Given the description of an element on the screen output the (x, y) to click on. 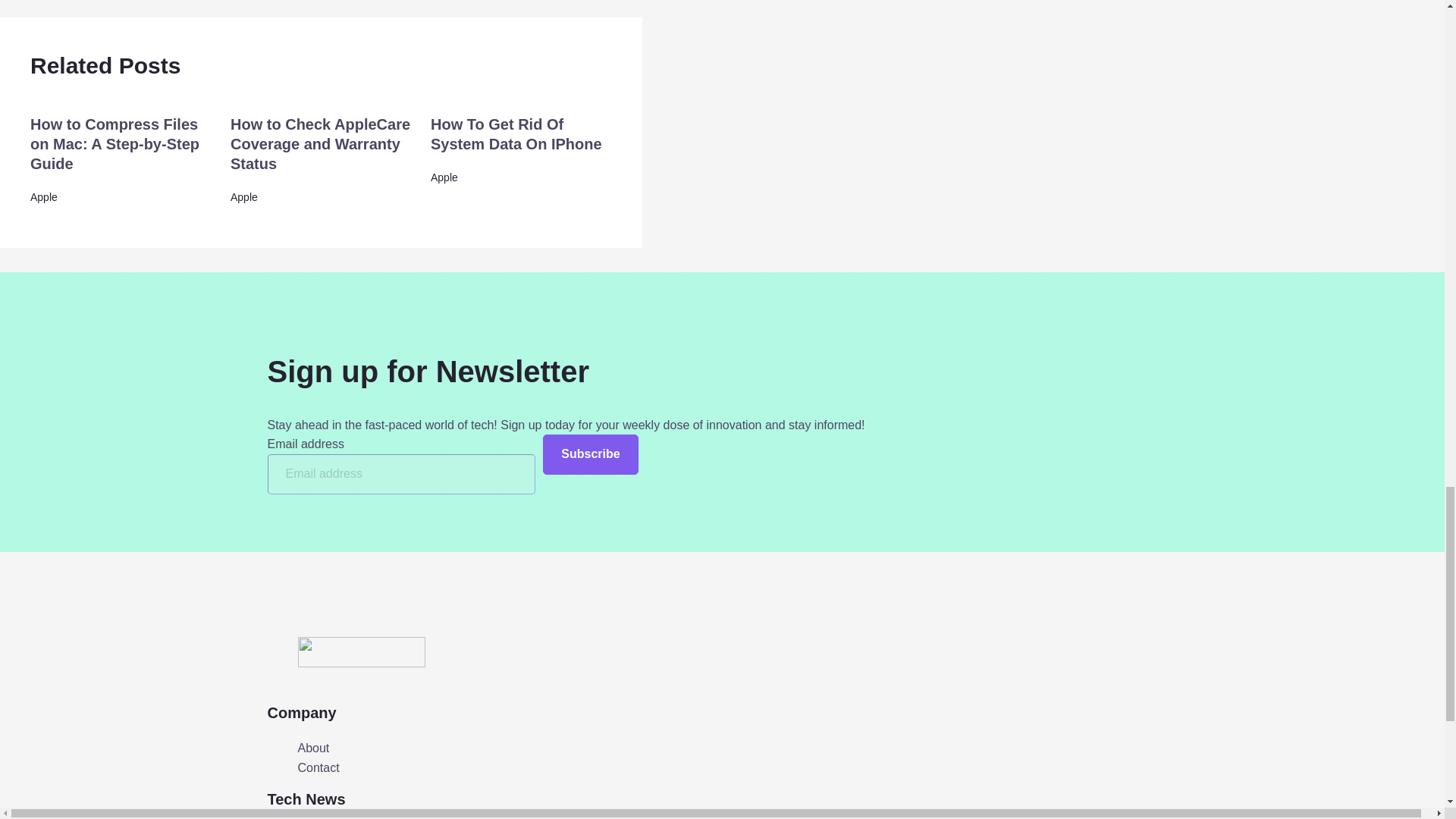
Apple (243, 196)
Apple (44, 196)
Apple (444, 177)
How to Check AppleCare Coverage and Warranty Status (320, 143)
Contact (318, 768)
Subscribe (590, 454)
How To Get Rid Of System Data On IPhone (516, 134)
Please fill in this field. (400, 474)
How to Compress Files on Mac: A Step-by-Step Guide (114, 143)
About (313, 748)
